Given the description of an element on the screen output the (x, y) to click on. 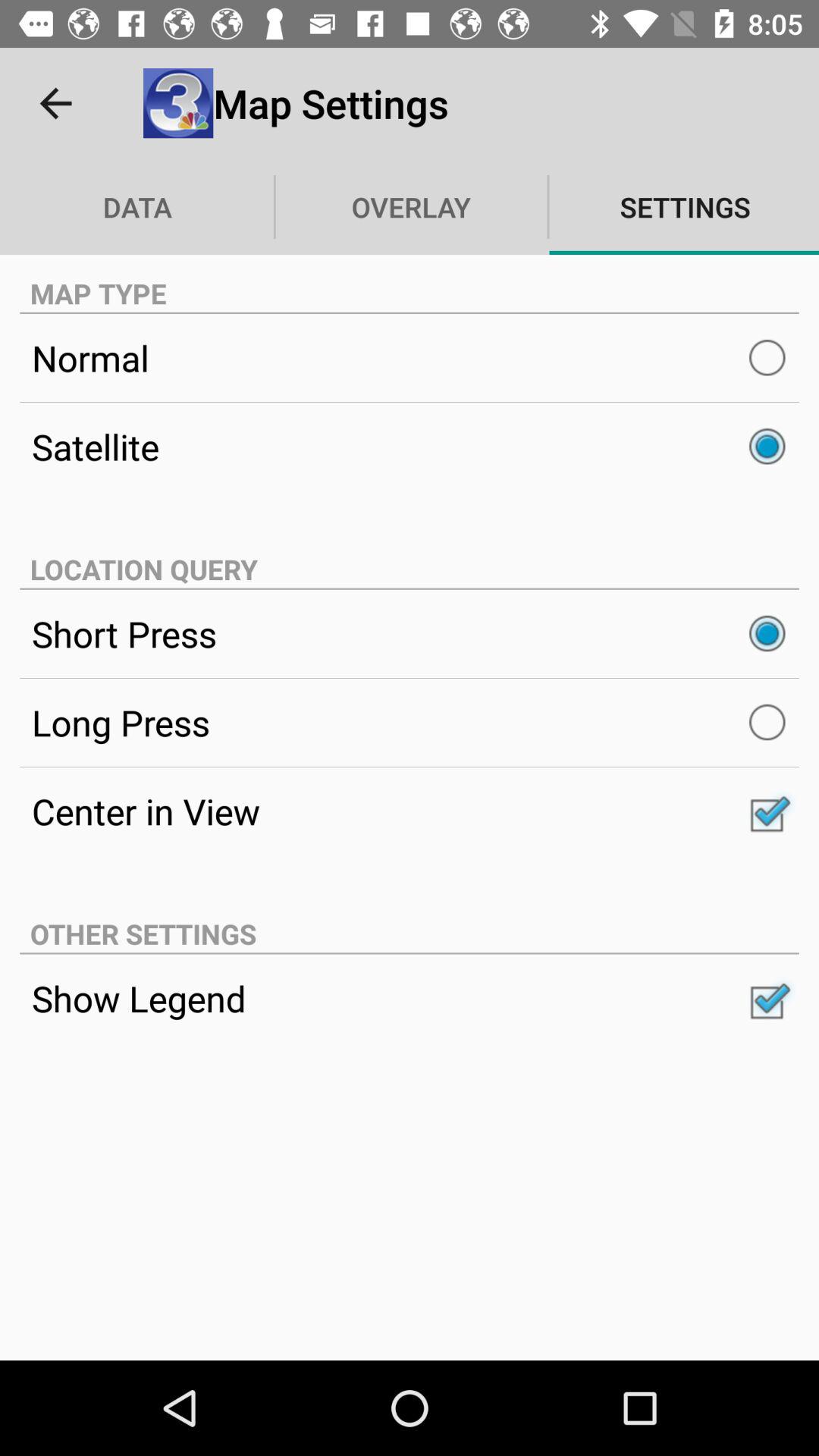
turn on the normal item (409, 357)
